Given the description of an element on the screen output the (x, y) to click on. 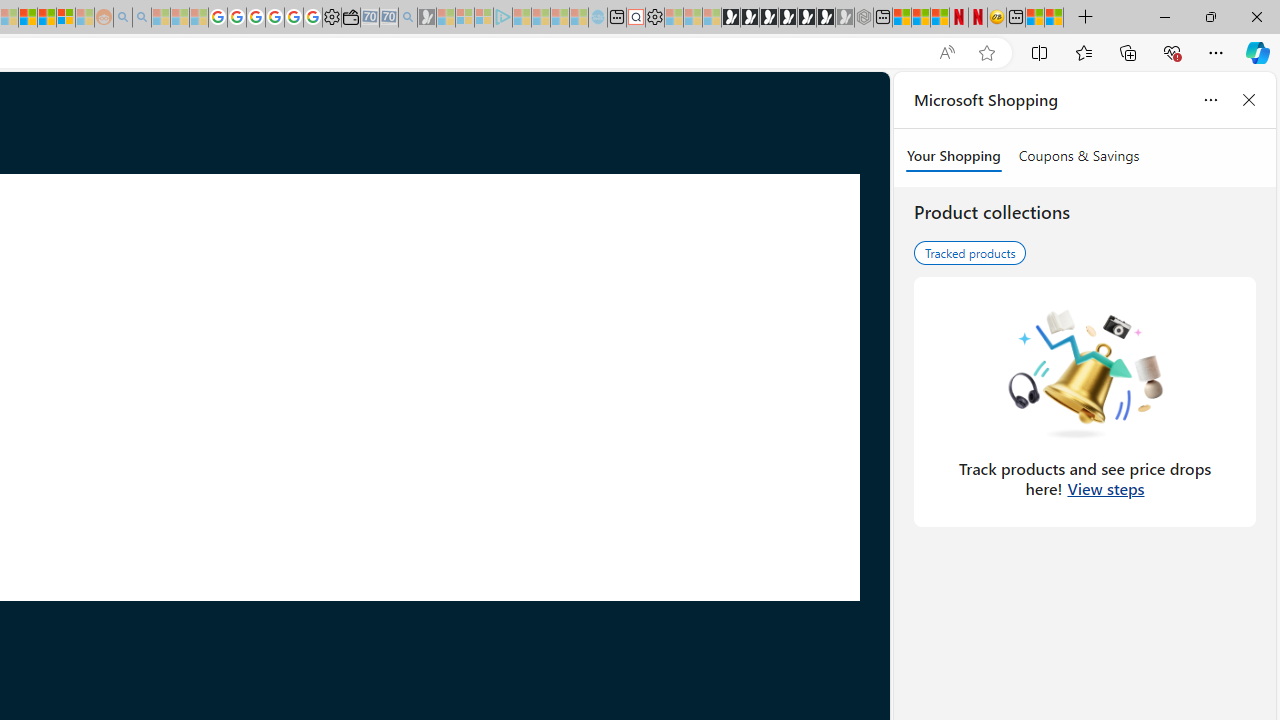
Kinda Frugal - MSN (47, 17)
Play Free Online Games | Games from Microsoft Start (730, 17)
Bing Real Estate - Home sales and rental listings - Sleeping (408, 17)
